Given the description of an element on the screen output the (x, y) to click on. 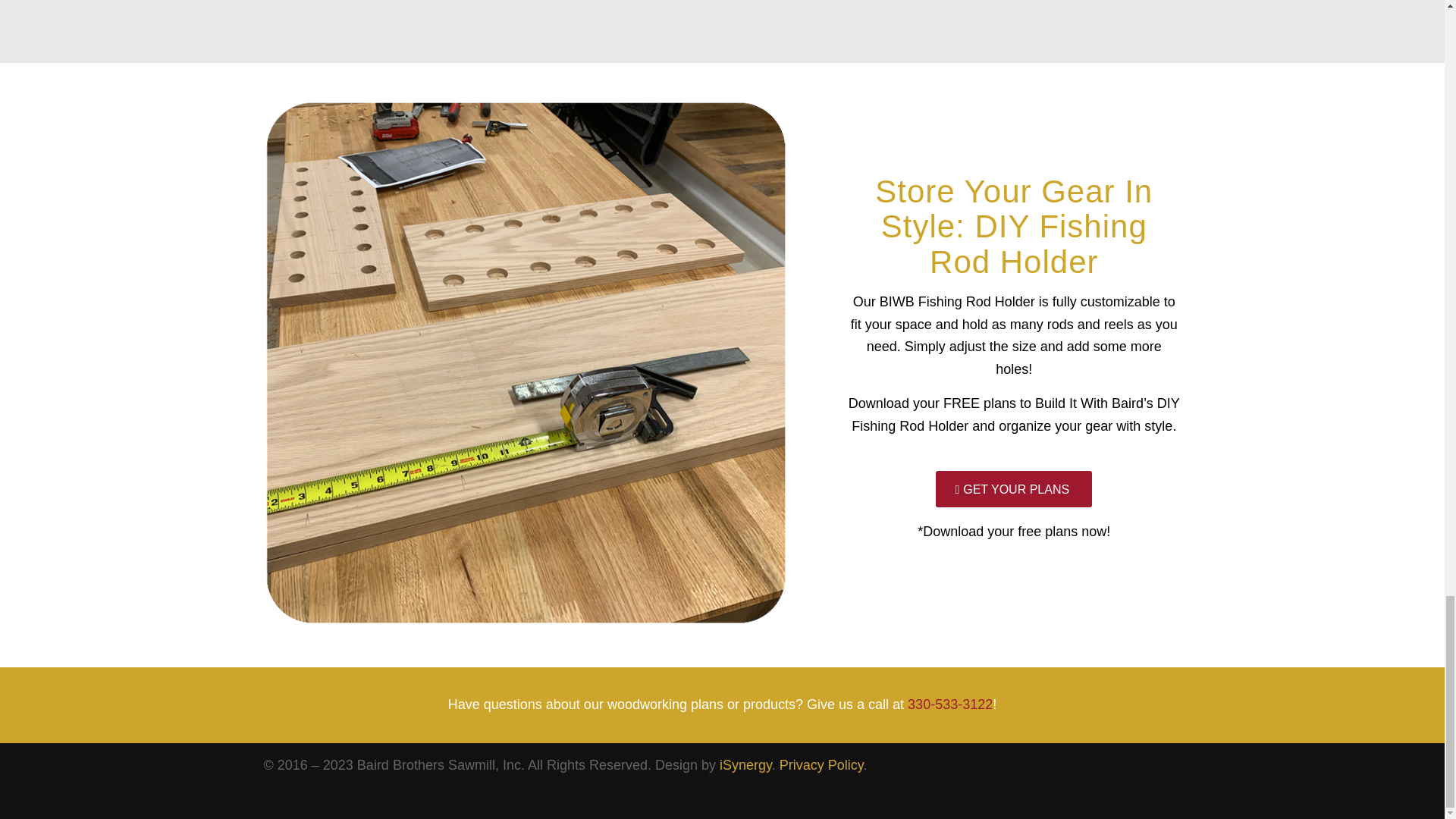
GET YOUR PLANS (1014, 488)
330-533-3122 (949, 703)
iSynergy (745, 765)
Privacy Policy (820, 765)
Renovation Hunters. (722, 4)
